Given the description of an element on the screen output the (x, y) to click on. 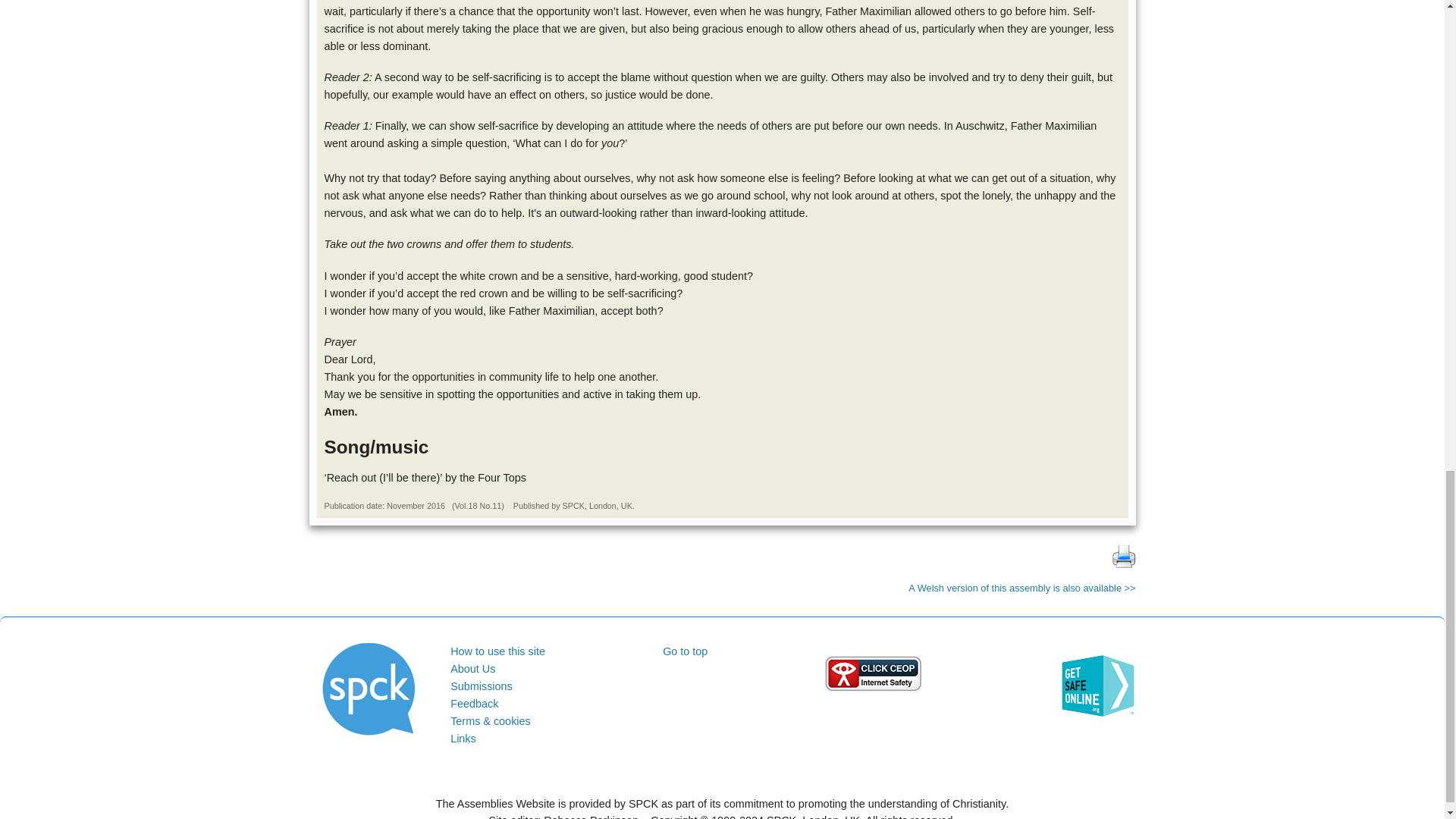
SPCK (367, 688)
Print this page (1123, 554)
